Given the description of an element on the screen output the (x, y) to click on. 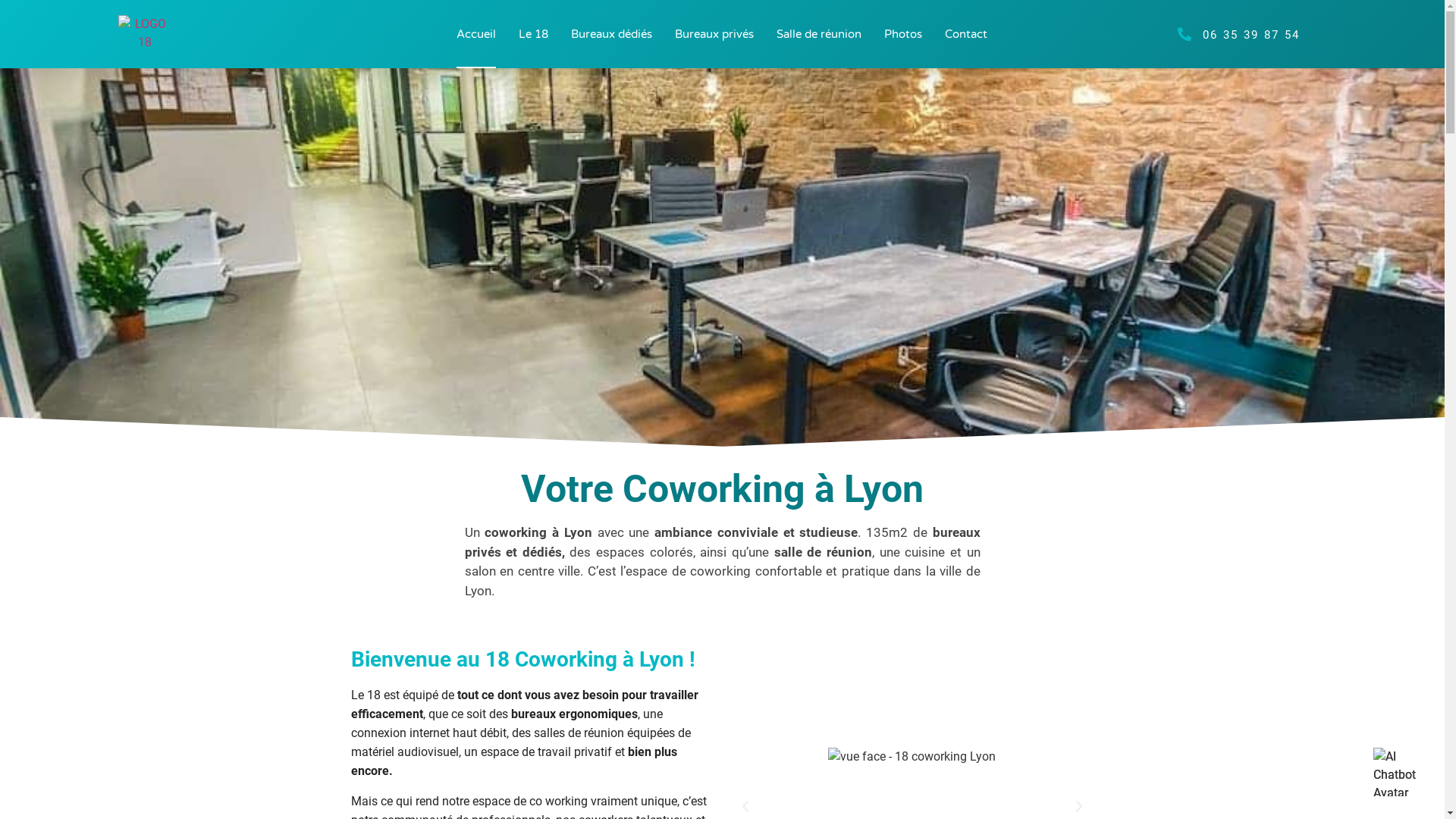
Le 18 Element type: text (533, 34)
Photos Element type: text (903, 34)
Contact Element type: text (965, 34)
Accueil Element type: text (475, 34)
